Given the description of an element on the screen output the (x, y) to click on. 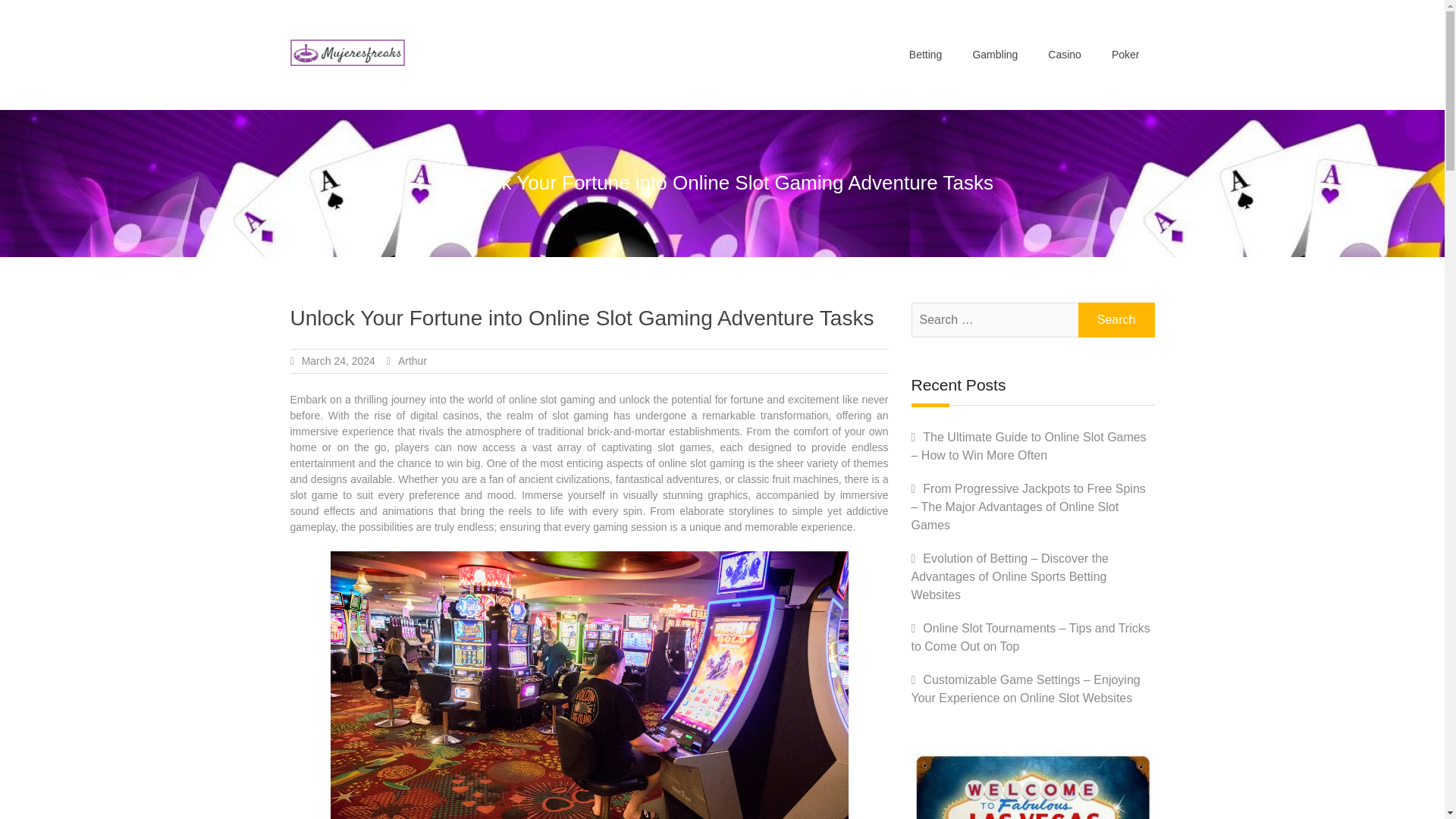
Search (1116, 319)
March 24, 2024 (338, 360)
Gambling (994, 55)
Poker (1125, 55)
Search (1116, 319)
Betting (925, 55)
Arthur (411, 360)
Search (1116, 319)
Casino (1064, 55)
